Given the description of an element on the screen output the (x, y) to click on. 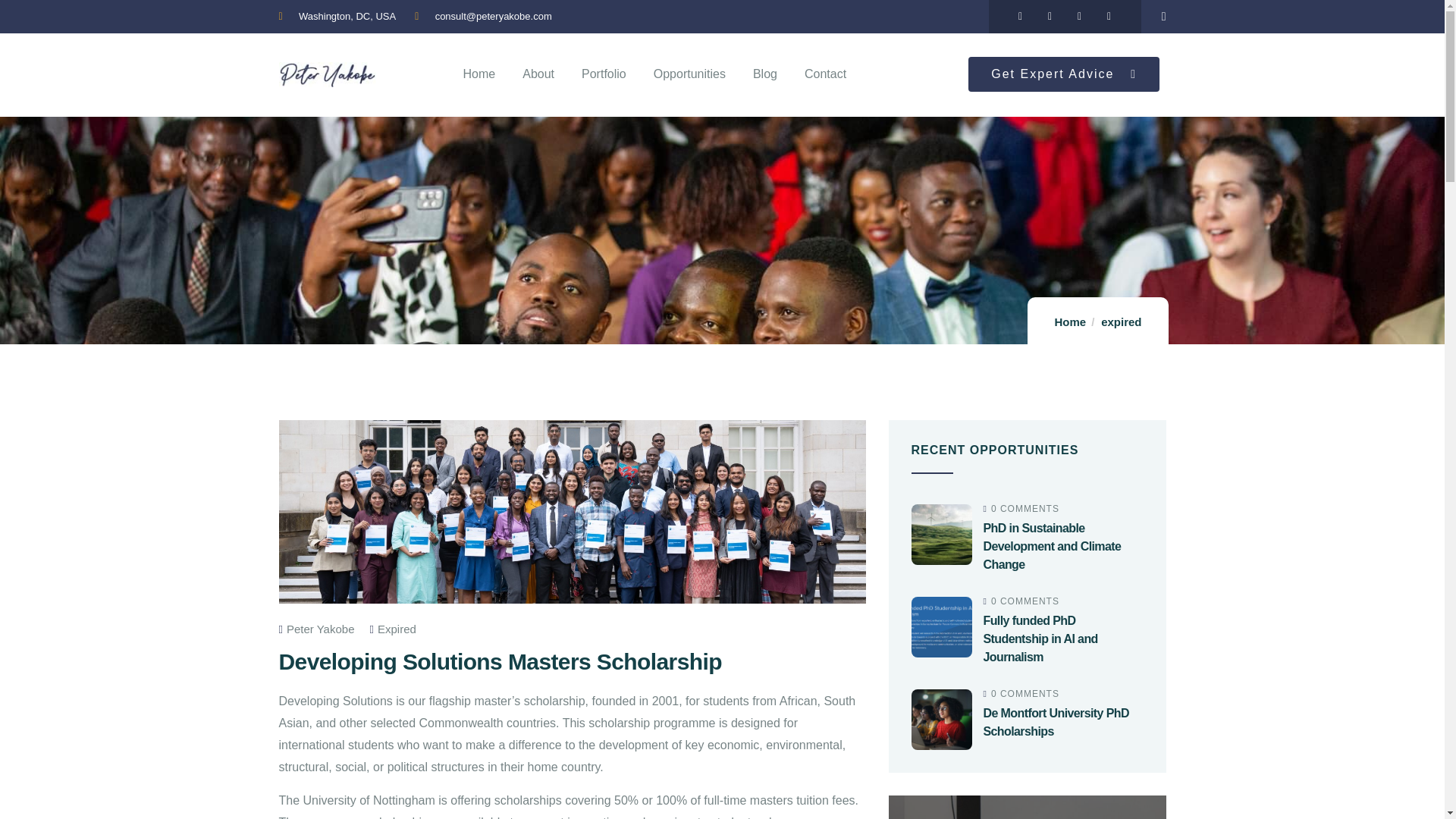
Home (327, 74)
Contact (825, 74)
Home (479, 74)
Home (1070, 321)
Expired (396, 628)
Peter Yakobe (317, 628)
Opportunities (689, 74)
Blog (764, 74)
About (538, 74)
Portfolio (603, 74)
Get Expert Advice (1063, 73)
expired (1120, 321)
